Given the description of an element on the screen output the (x, y) to click on. 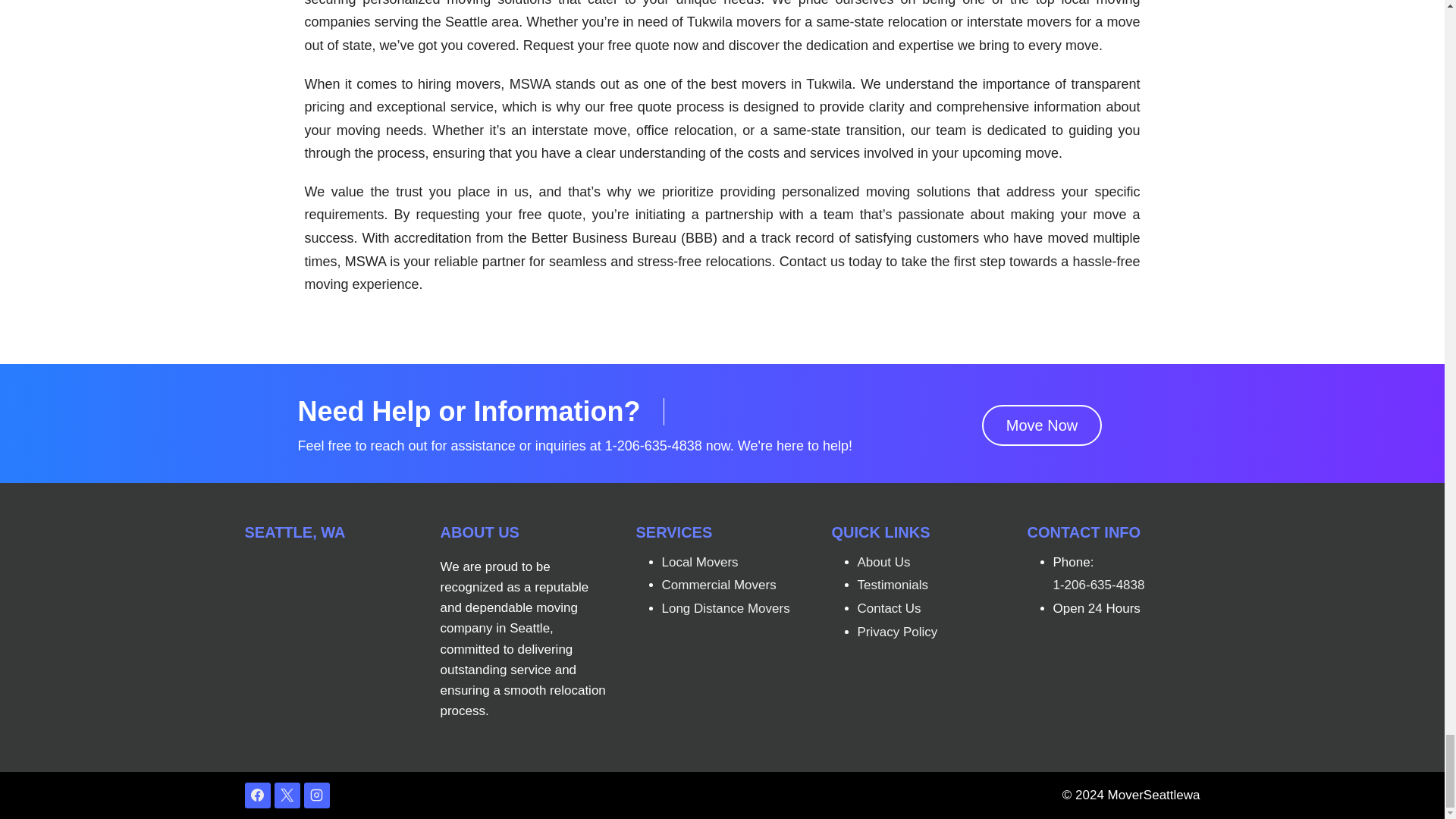
Privacy Policy (897, 631)
Commercial Movers (718, 585)
1-206-635-4838 (1098, 585)
Long Distance Movers (725, 608)
Move Now (1041, 424)
Local Movers (699, 562)
Testimonials (892, 585)
Contact Us (888, 608)
About Us (883, 562)
